Given the description of an element on the screen output the (x, y) to click on. 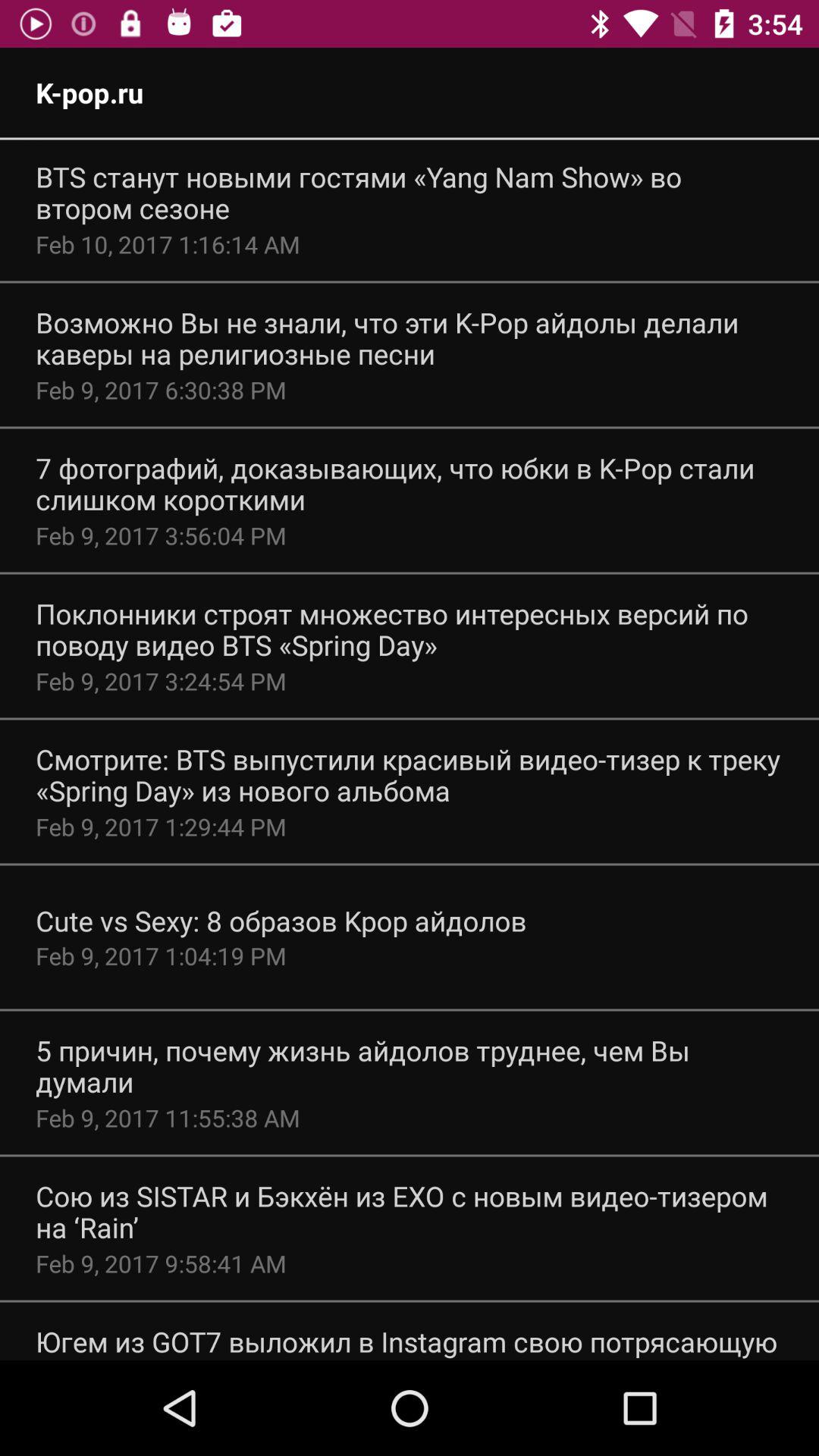
select the item above the feb 9 2017 icon (409, 1212)
